Given the description of an element on the screen output the (x, y) to click on. 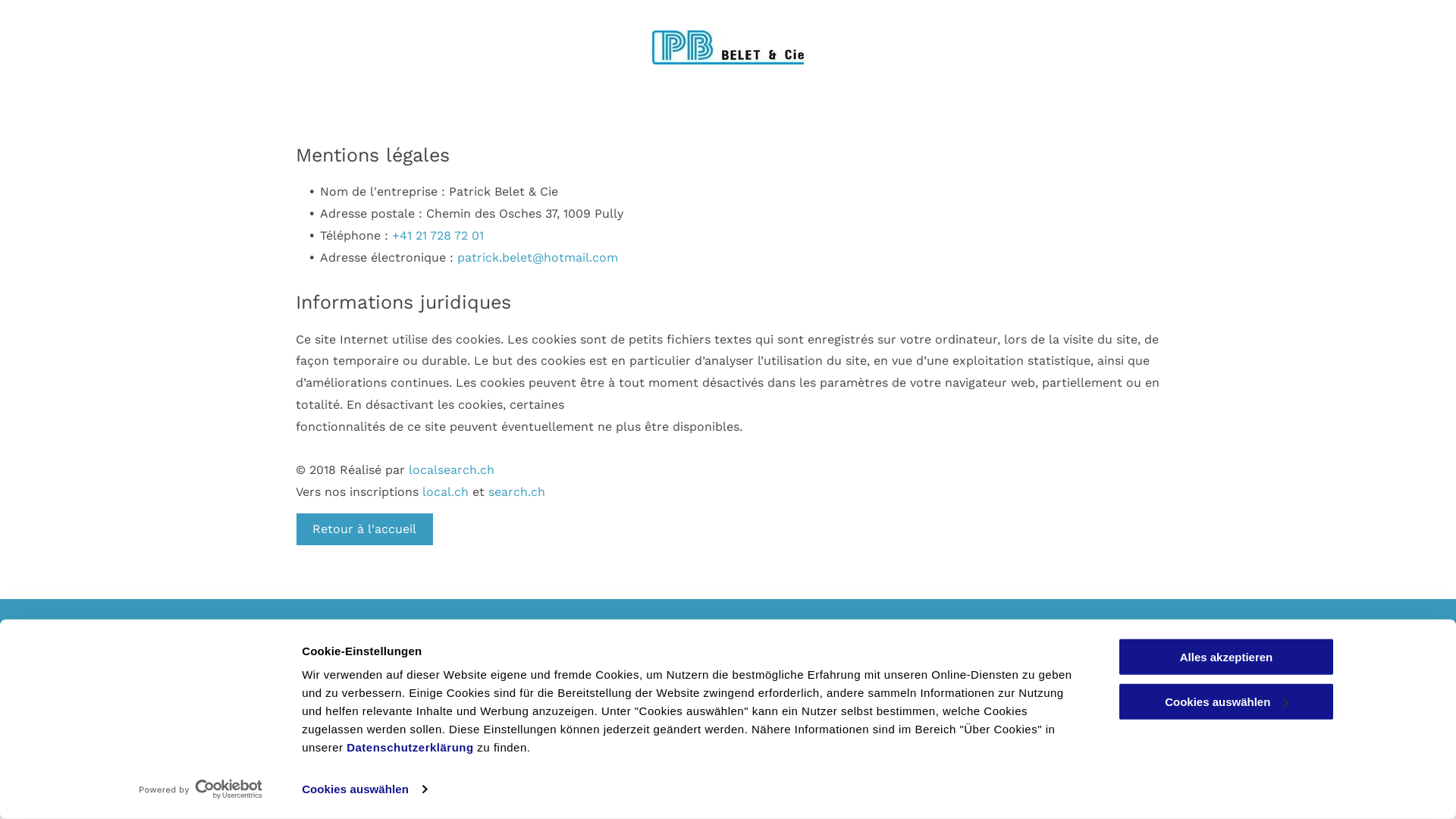
Alles akzeptieren Element type: text (1225, 656)
patrick.belet@hotmail.com Element type: text (537, 257)
patrick.belet@hotmail.com Element type: text (666, 723)
+41 79 412 87 07 Element type: text (633, 684)
local.ch Element type: text (445, 491)
+41 21 728 72 01 Element type: text (437, 235)
+41 21 728 72 01 Element type: text (631, 665)
localsearch.ch Element type: text (451, 469)
search.ch Element type: text (516, 491)
